Given the description of an element on the screen output the (x, y) to click on. 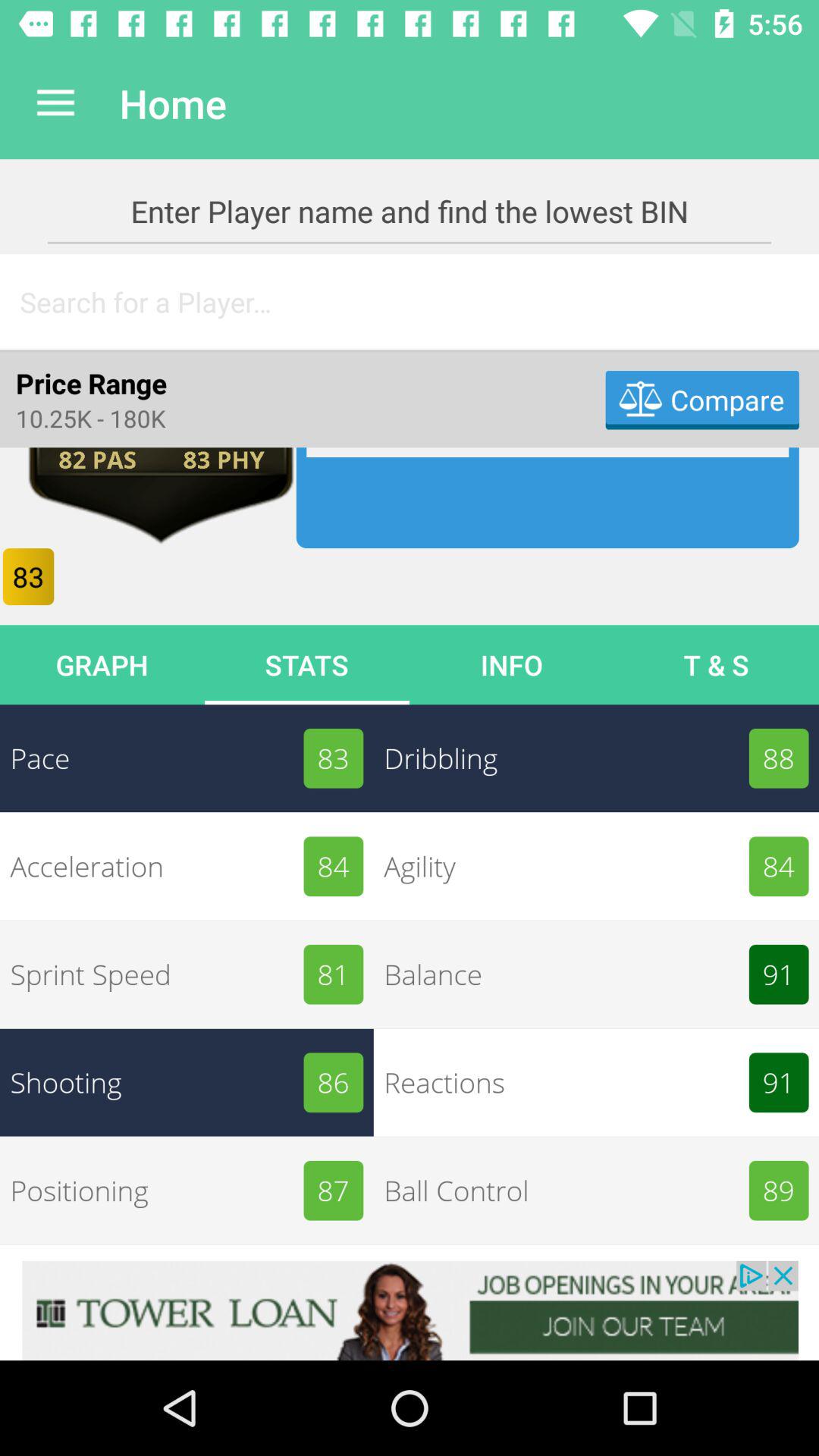
advertisements (409, 1310)
